Given the description of an element on the screen output the (x, y) to click on. 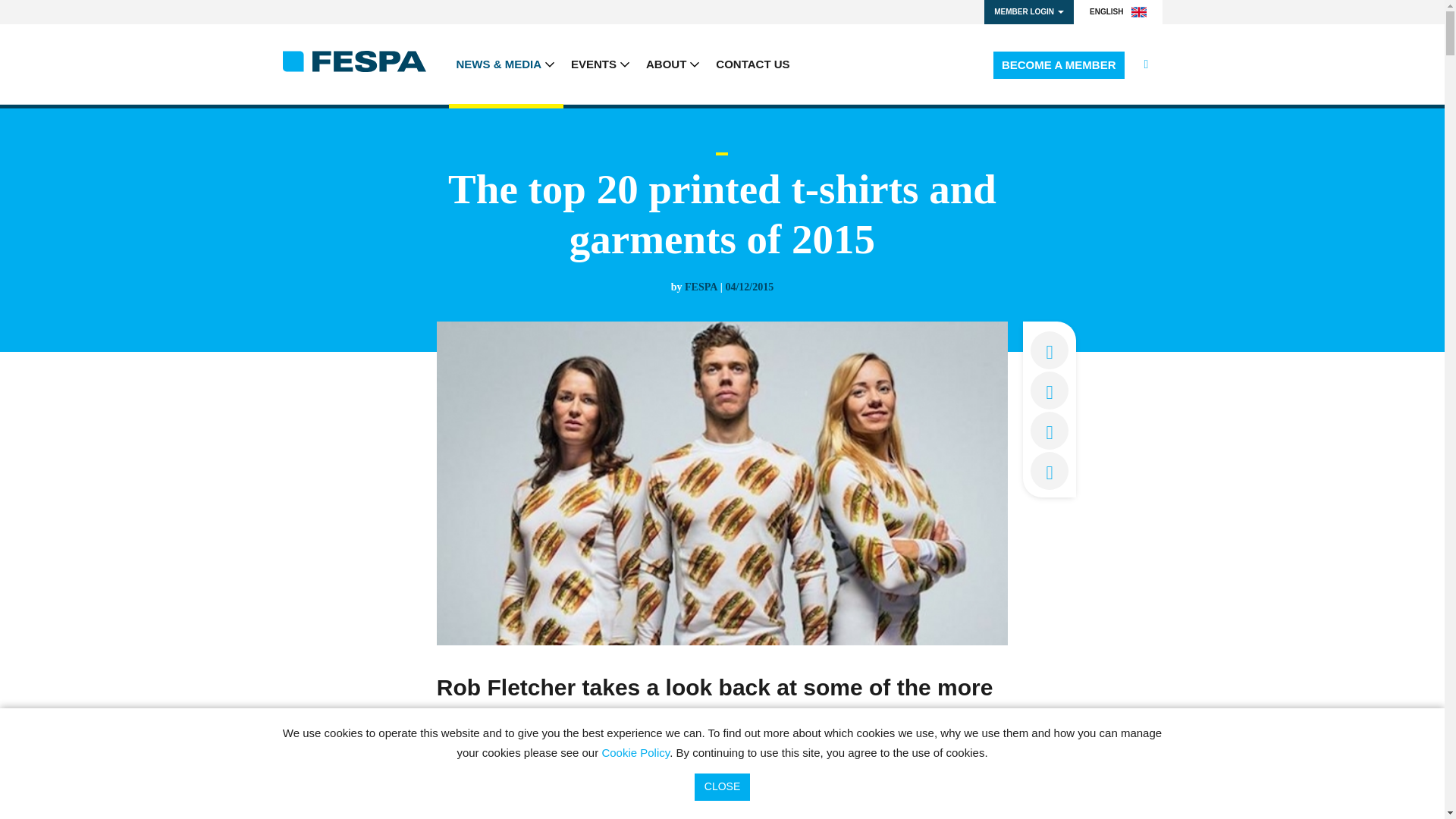
EVENTS (601, 63)
ABOUT (673, 63)
MEMBER LOGIN (1029, 12)
ENGLISH (1117, 12)
